Given the description of an element on the screen output the (x, y) to click on. 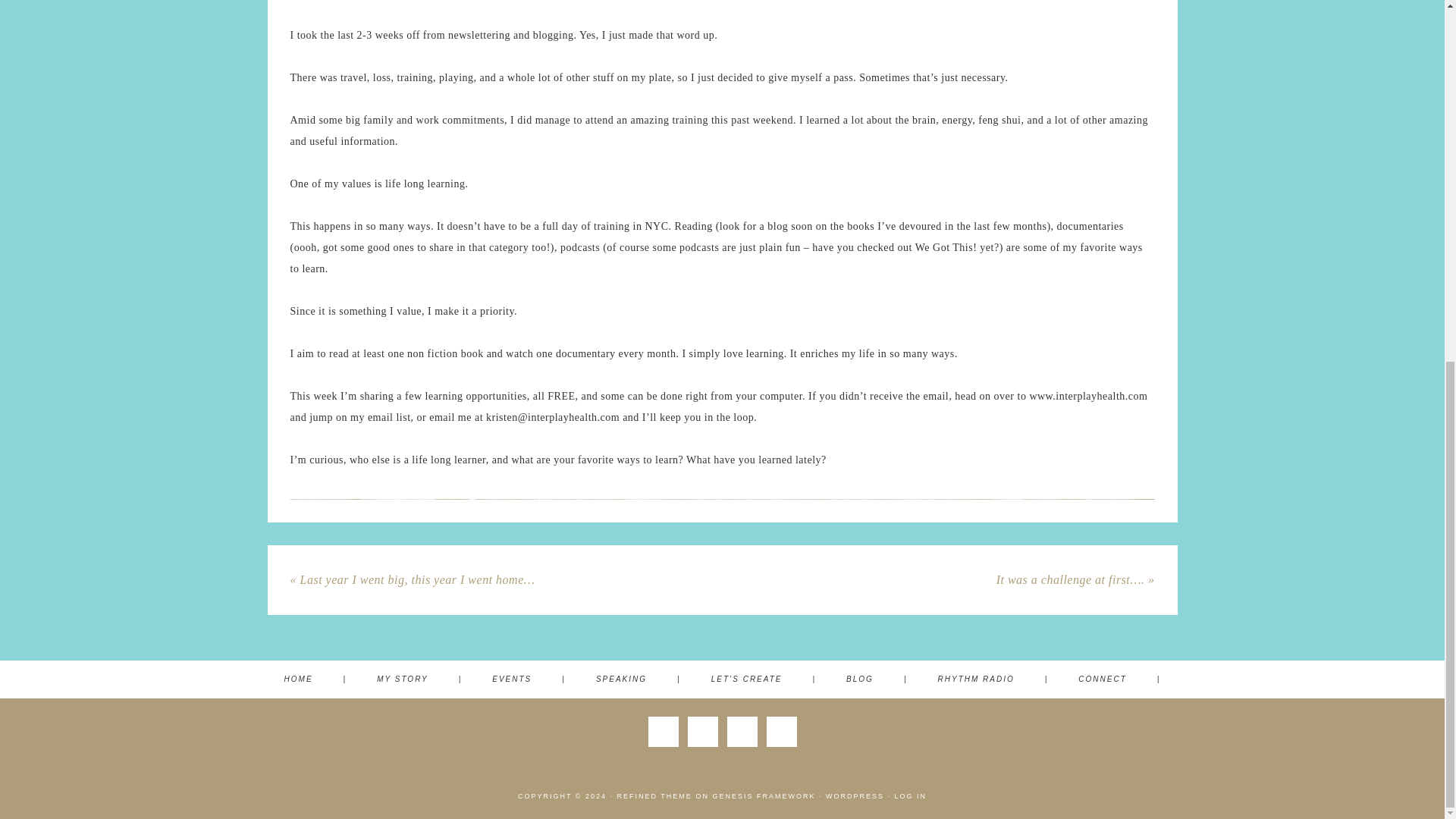
HOME (315, 679)
LOG IN (909, 796)
EVENTS (528, 679)
BLOG (876, 679)
CONNECT (1118, 679)
REFINED THEME (655, 796)
MY STORY (419, 679)
WORDPRESS (854, 796)
GENESIS FRAMEWORK (763, 796)
RHYTHM RADIO (993, 679)
SPEAKING (637, 679)
